Given the description of an element on the screen output the (x, y) to click on. 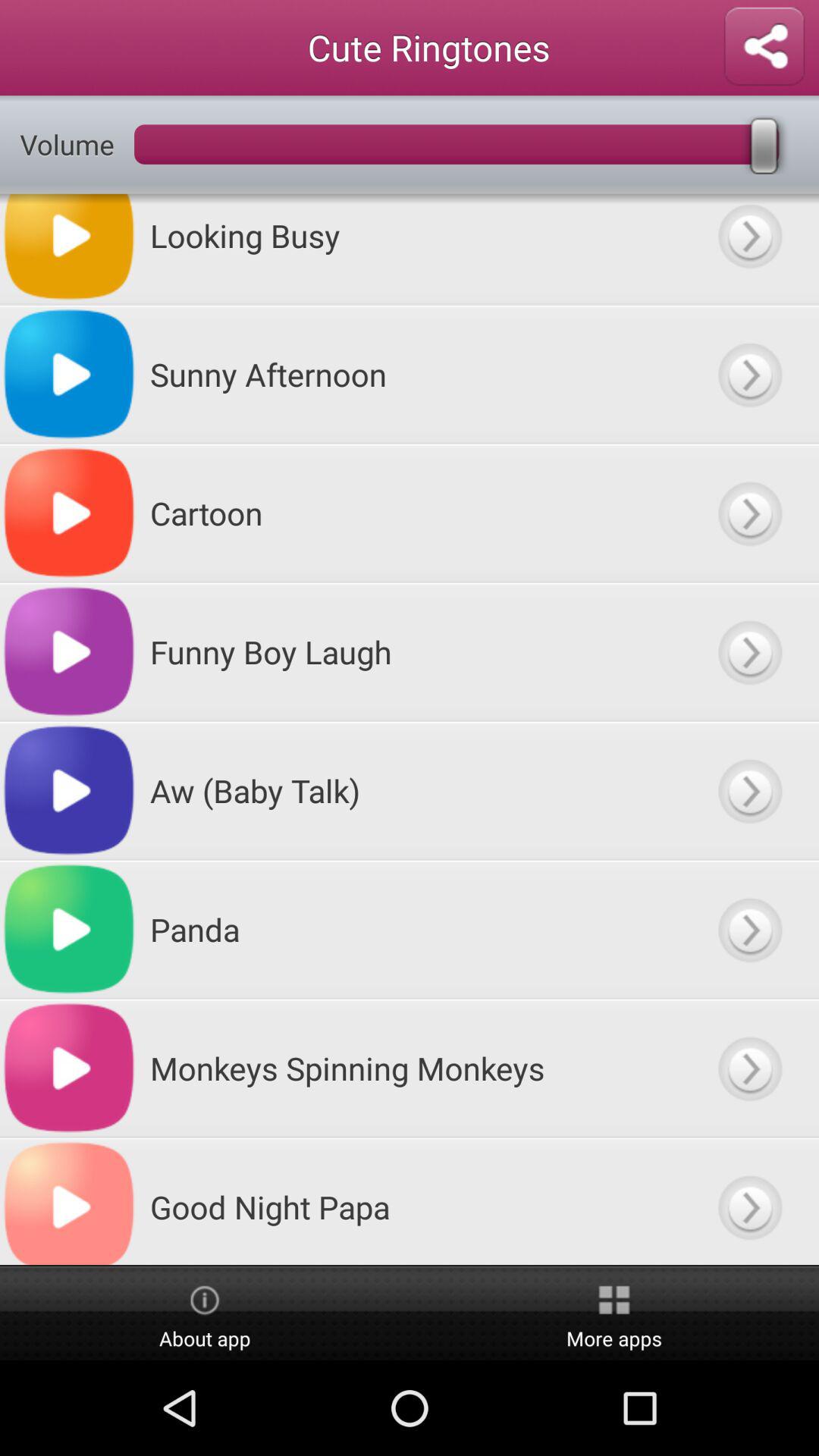
next (749, 1201)
